Given the description of an element on the screen output the (x, y) to click on. 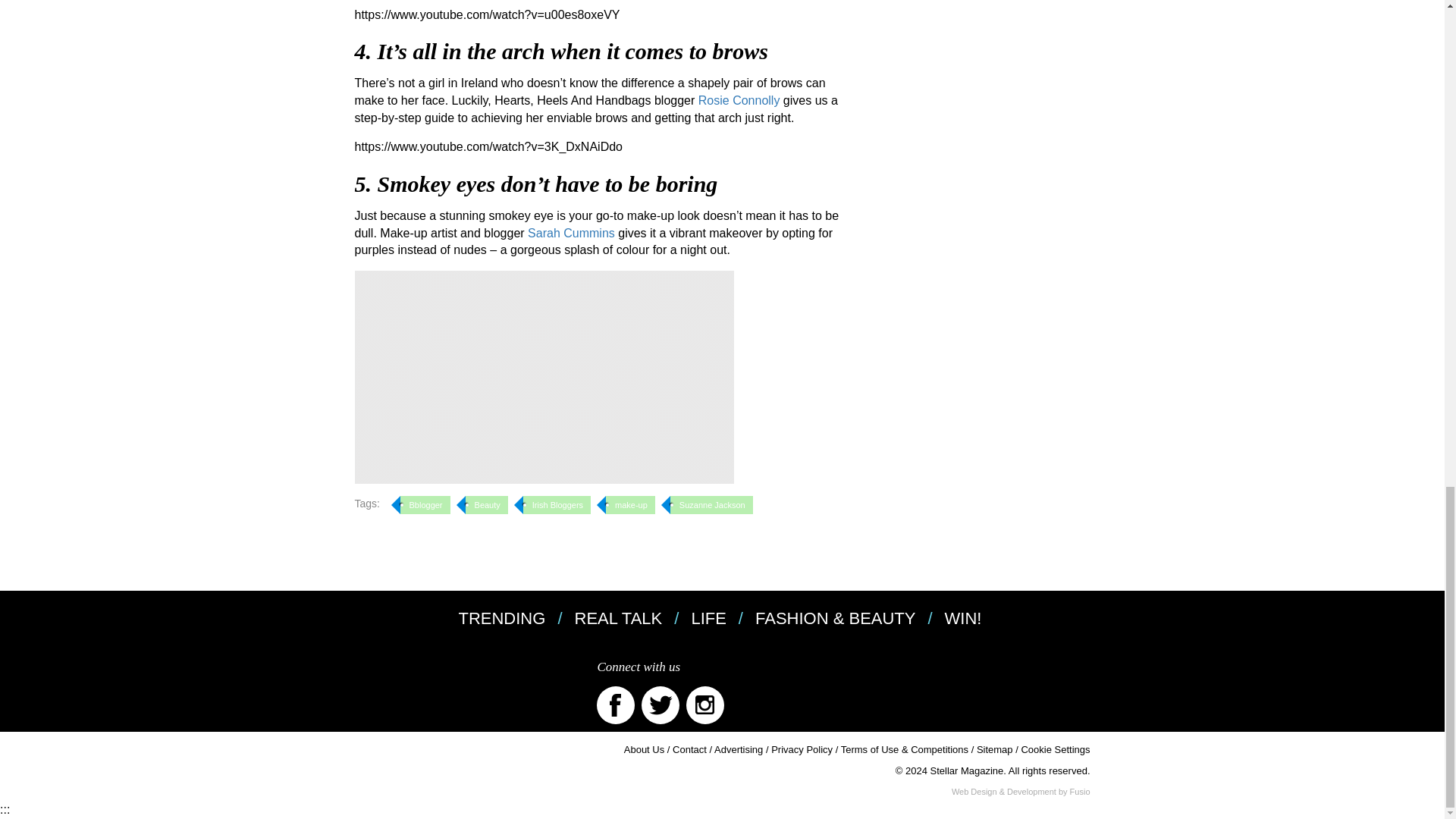
Bblogger (424, 505)
Irish Bloggers (556, 505)
Suzanne Jackson (710, 505)
make-up (630, 505)
Beauty (486, 505)
Sarah Cummins (570, 232)
Rosie Connolly (739, 100)
